Given the description of an element on the screen output the (x, y) to click on. 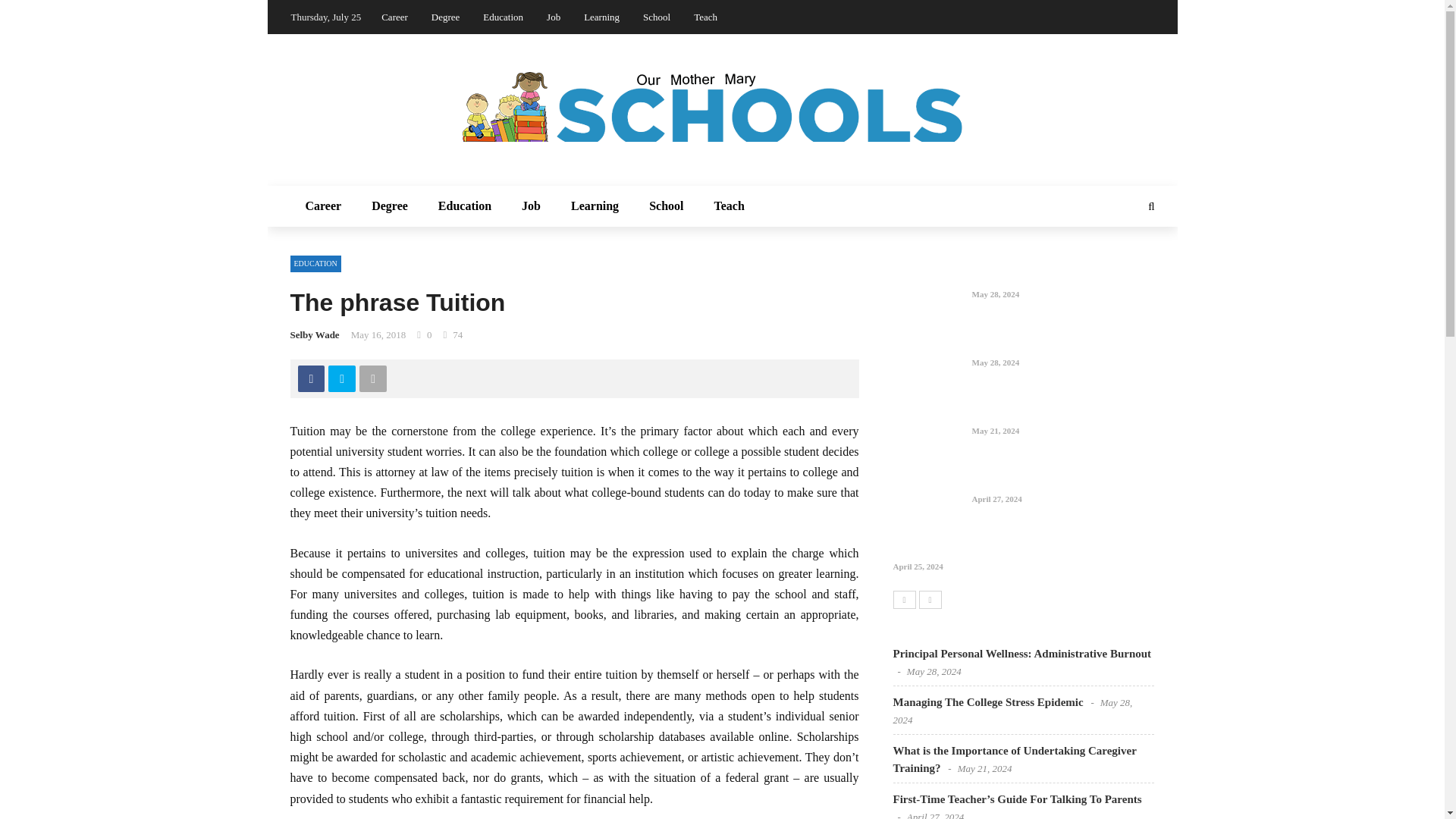
Career (394, 16)
Twitter (341, 378)
EDUCATION (314, 263)
School (656, 16)
Degree (445, 16)
Job (531, 205)
Career (322, 205)
Education (464, 205)
Education (502, 16)
School (665, 205)
Degree (389, 205)
Learning (601, 16)
Selby Wade (314, 334)
Learning (594, 205)
Facebook (311, 378)
